Given the description of an element on the screen output the (x, y) to click on. 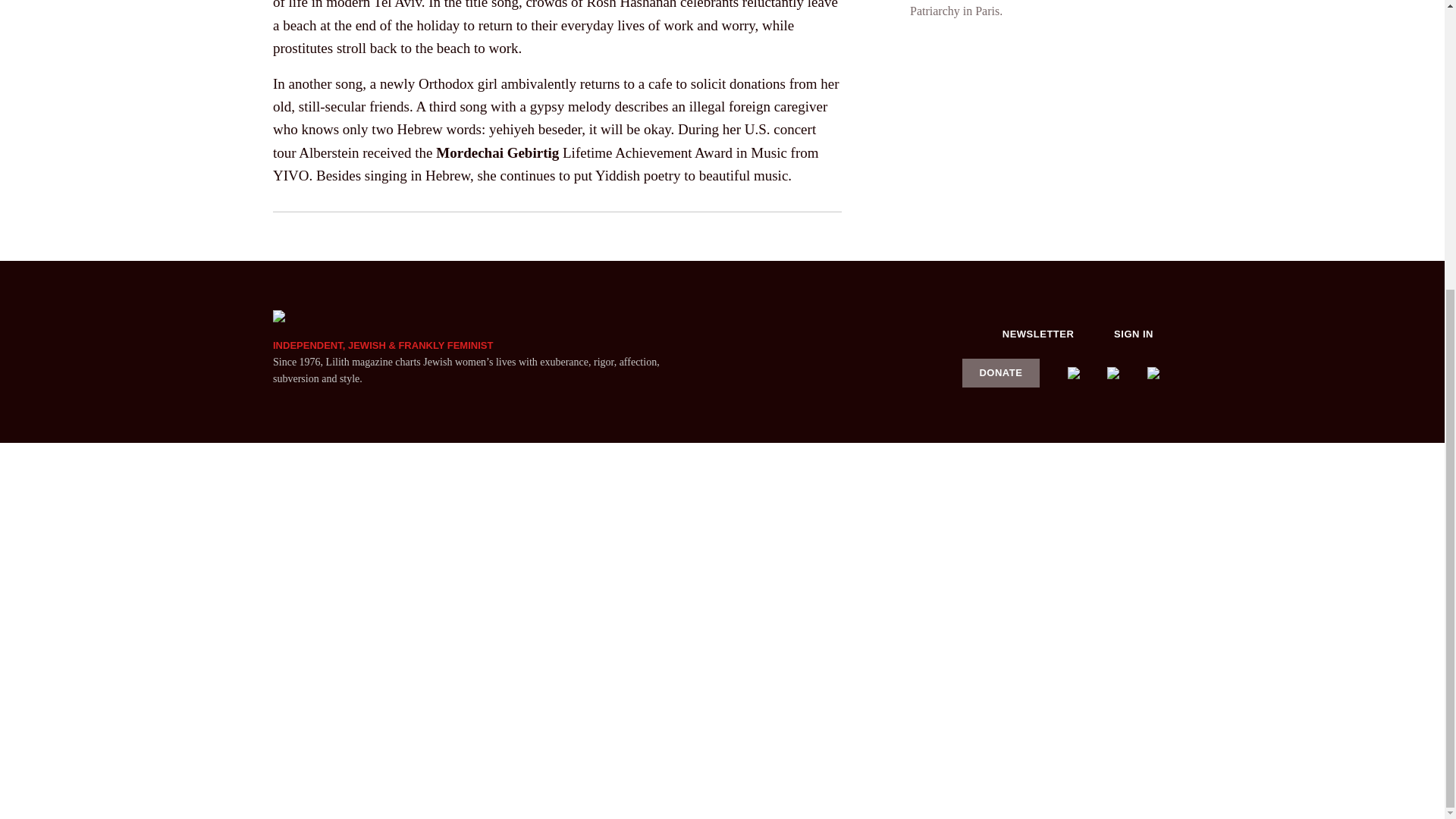
DONATE (1000, 372)
NEWSLETTER (1038, 333)
SIGN IN (1134, 333)
